Given the description of an element on the screen output the (x, y) to click on. 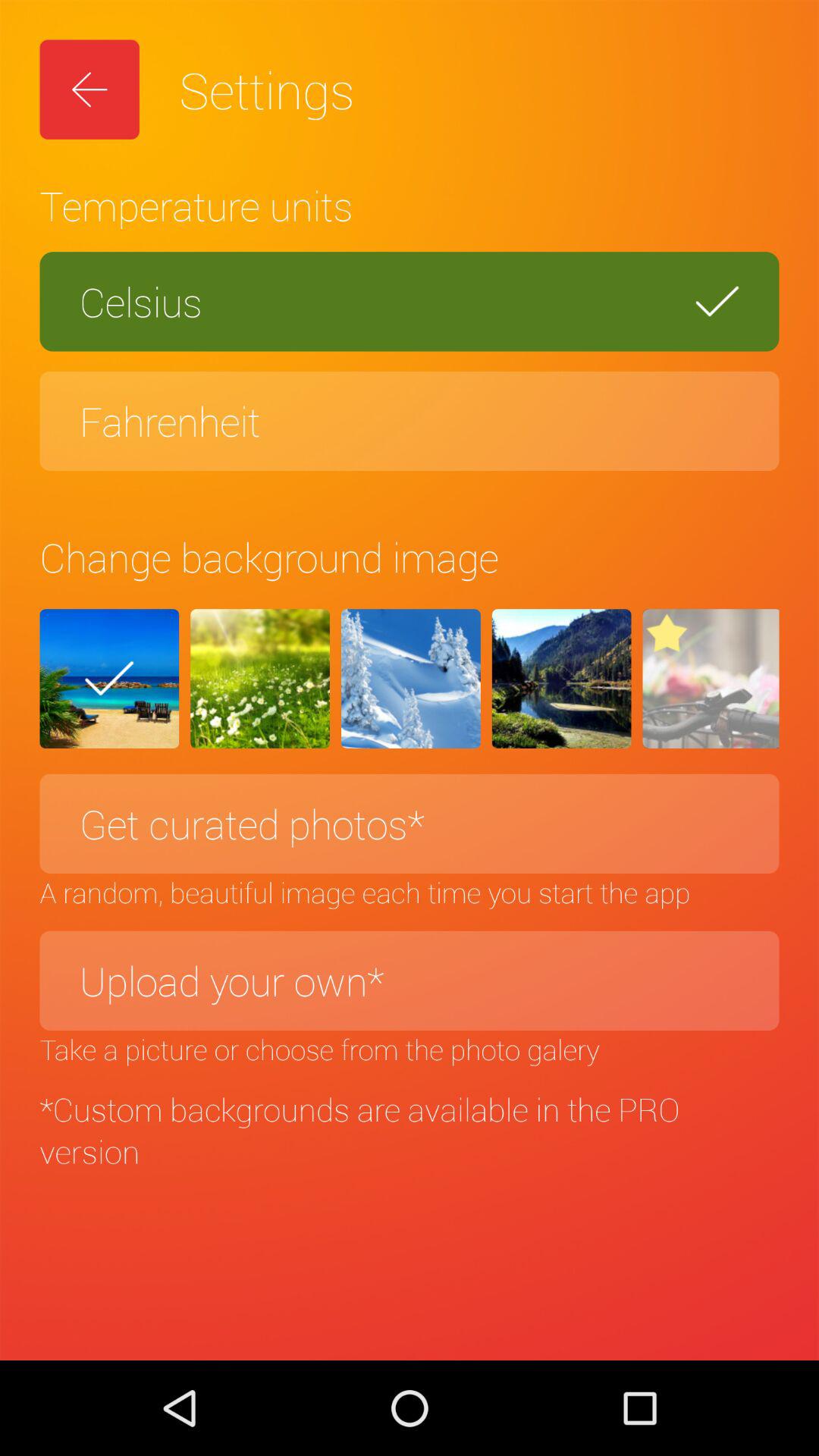
tap icon above the get curated photos* item (109, 678)
